Given the description of an element on the screen output the (x, y) to click on. 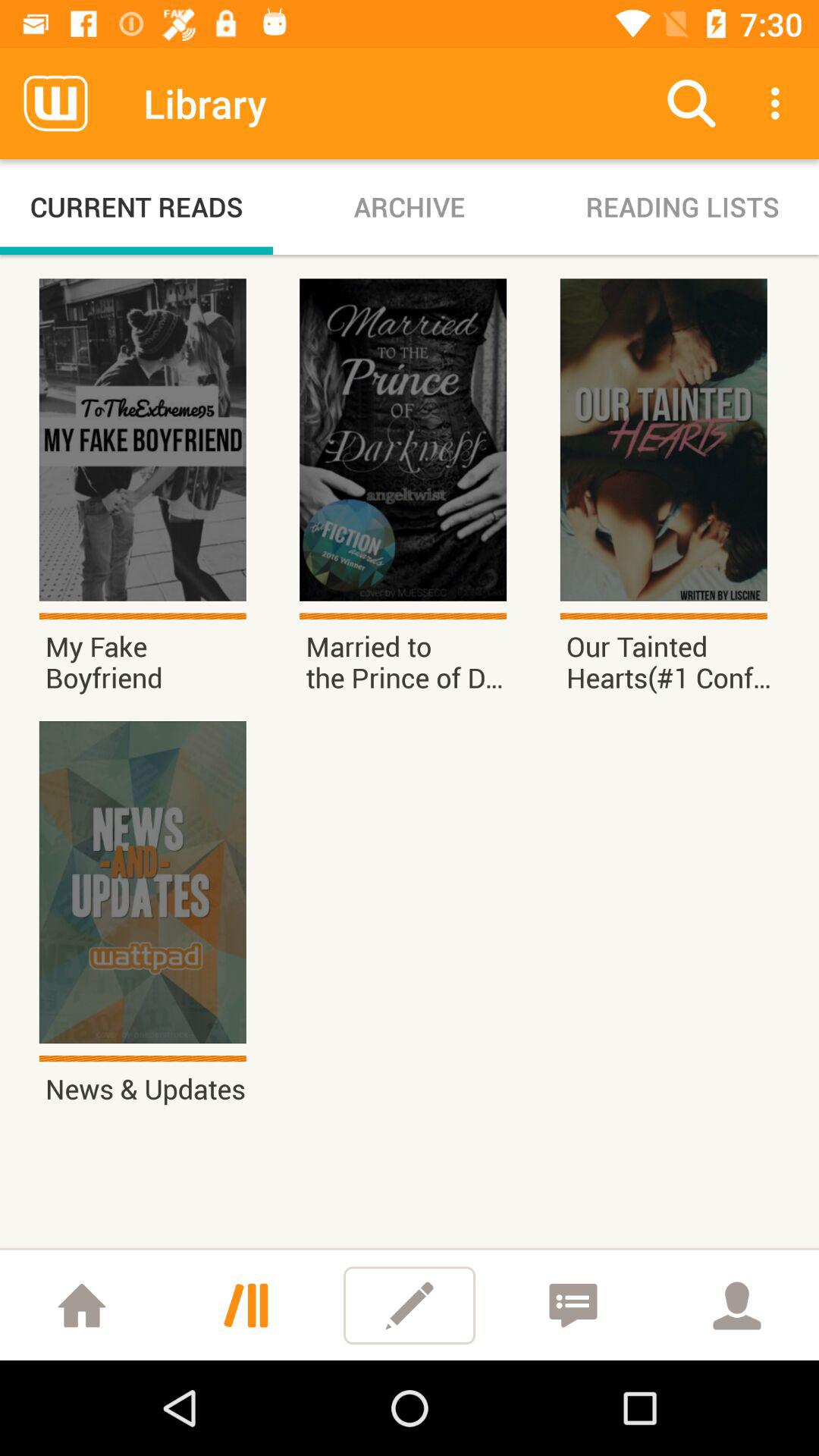
press icon to the right of current reads icon (409, 206)
